Given the description of an element on the screen output the (x, y) to click on. 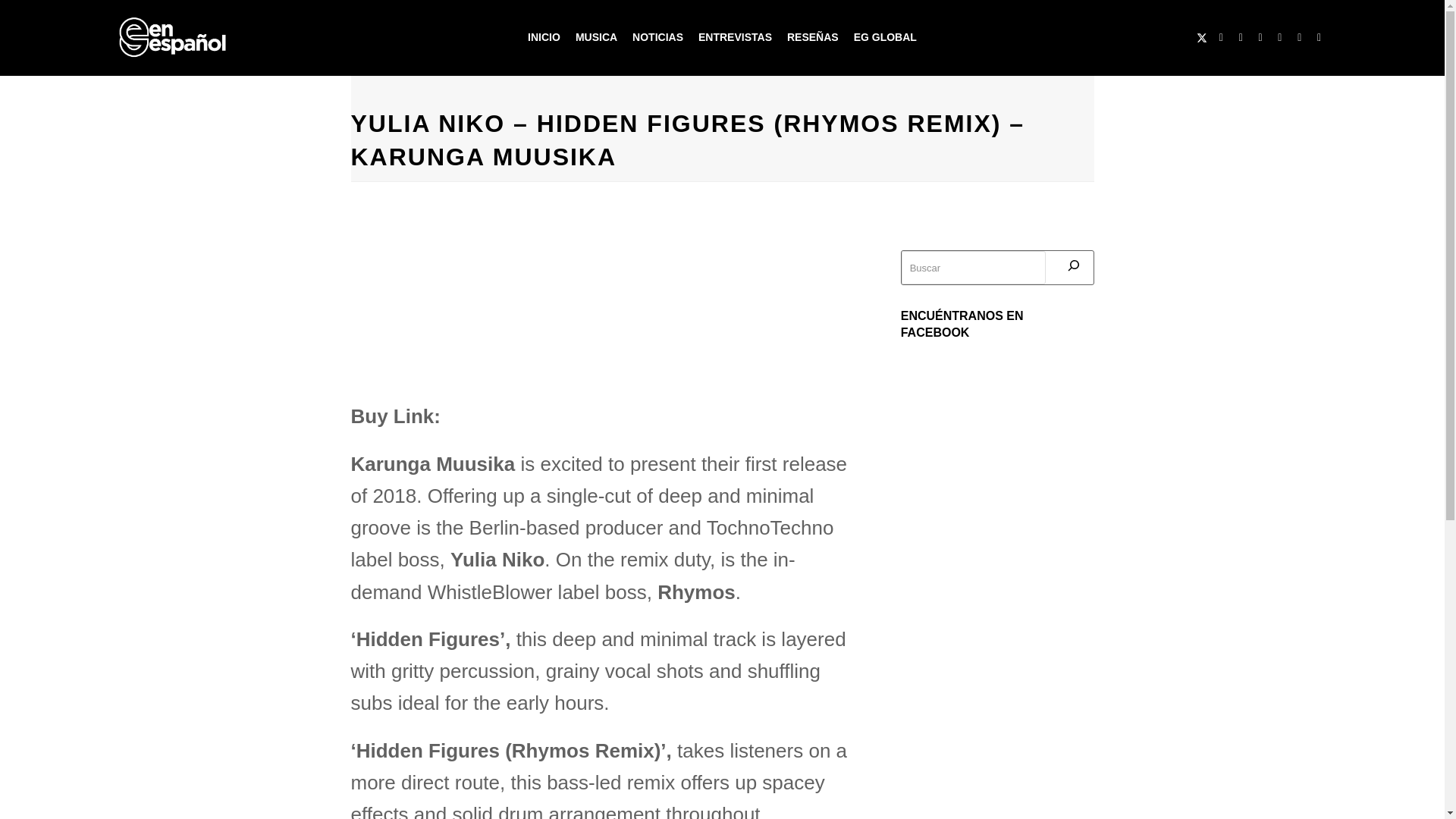
Facebook (1220, 37)
Facebook (1220, 37)
Email (1279, 37)
Twitter (1201, 37)
INICIO (543, 37)
YouTube (1259, 37)
soundcloud (1299, 37)
ENTREVISTAS (734, 37)
soundcloud (1299, 37)
Twitter (1201, 37)
